Given the description of an element on the screen output the (x, y) to click on. 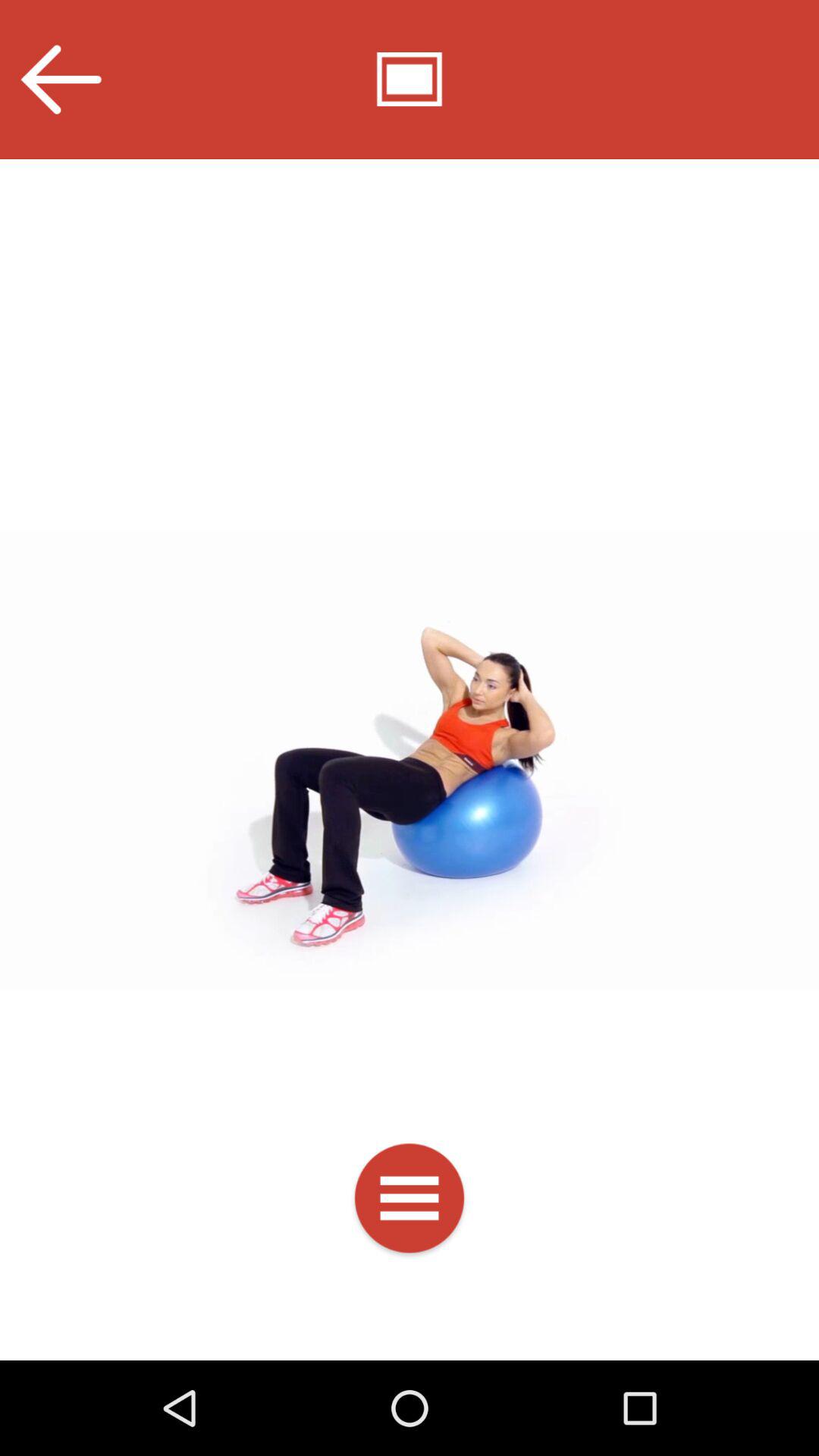
open the menu bar (409, 1200)
